Given the description of an element on the screen output the (x, y) to click on. 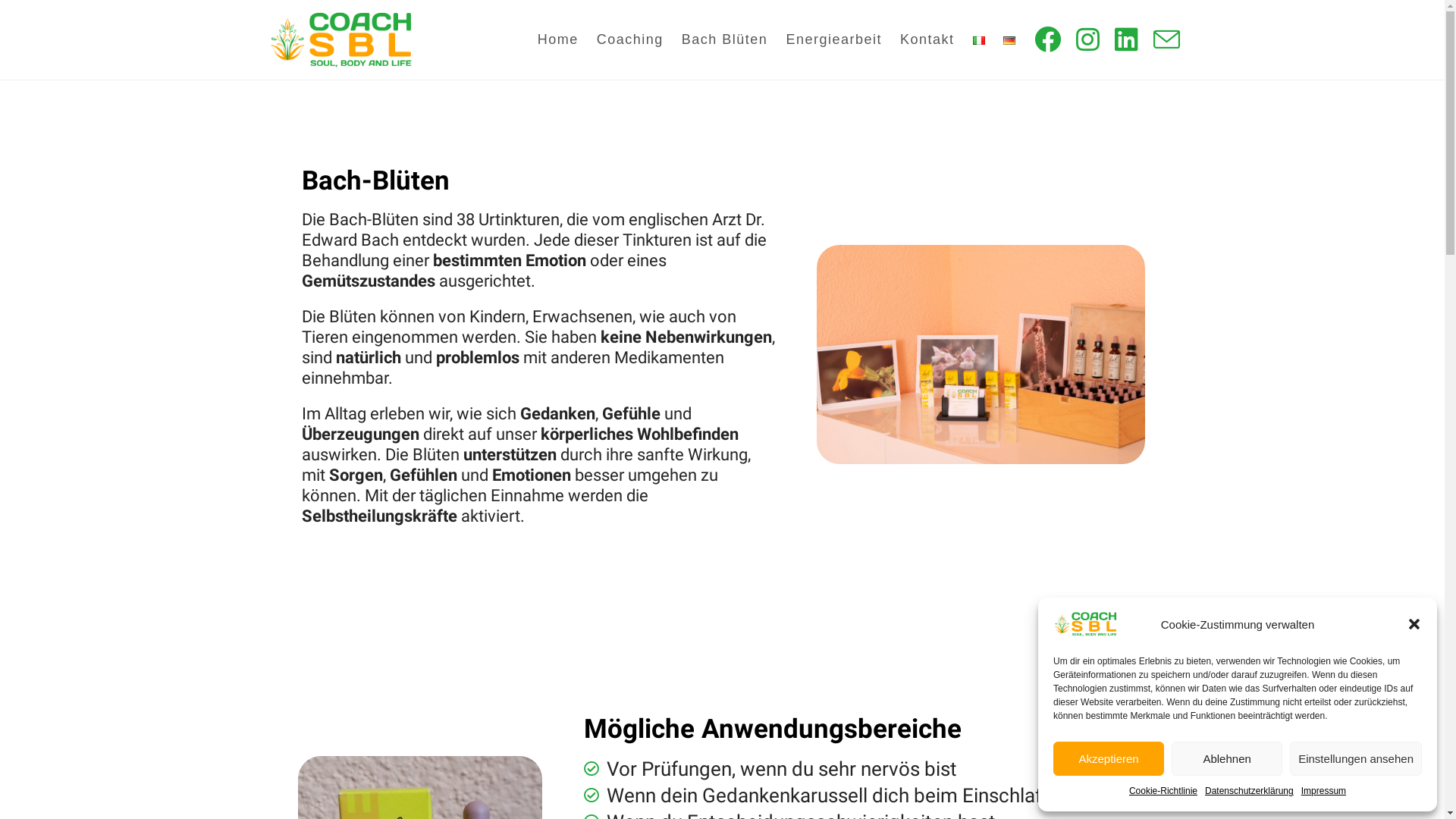
Kontakt Element type: text (927, 39)
Energiearbeit Element type: text (833, 39)
Coaching Element type: text (629, 39)
Cookie-Richtlinie Element type: text (1163, 791)
Ablehnen Element type: text (1226, 758)
Home Element type: text (557, 39)
Impressum Element type: text (1323, 791)
Einstellungen ansehen Element type: text (1355, 758)
Akzeptieren Element type: text (1108, 758)
